Given the description of an element on the screen output the (x, y) to click on. 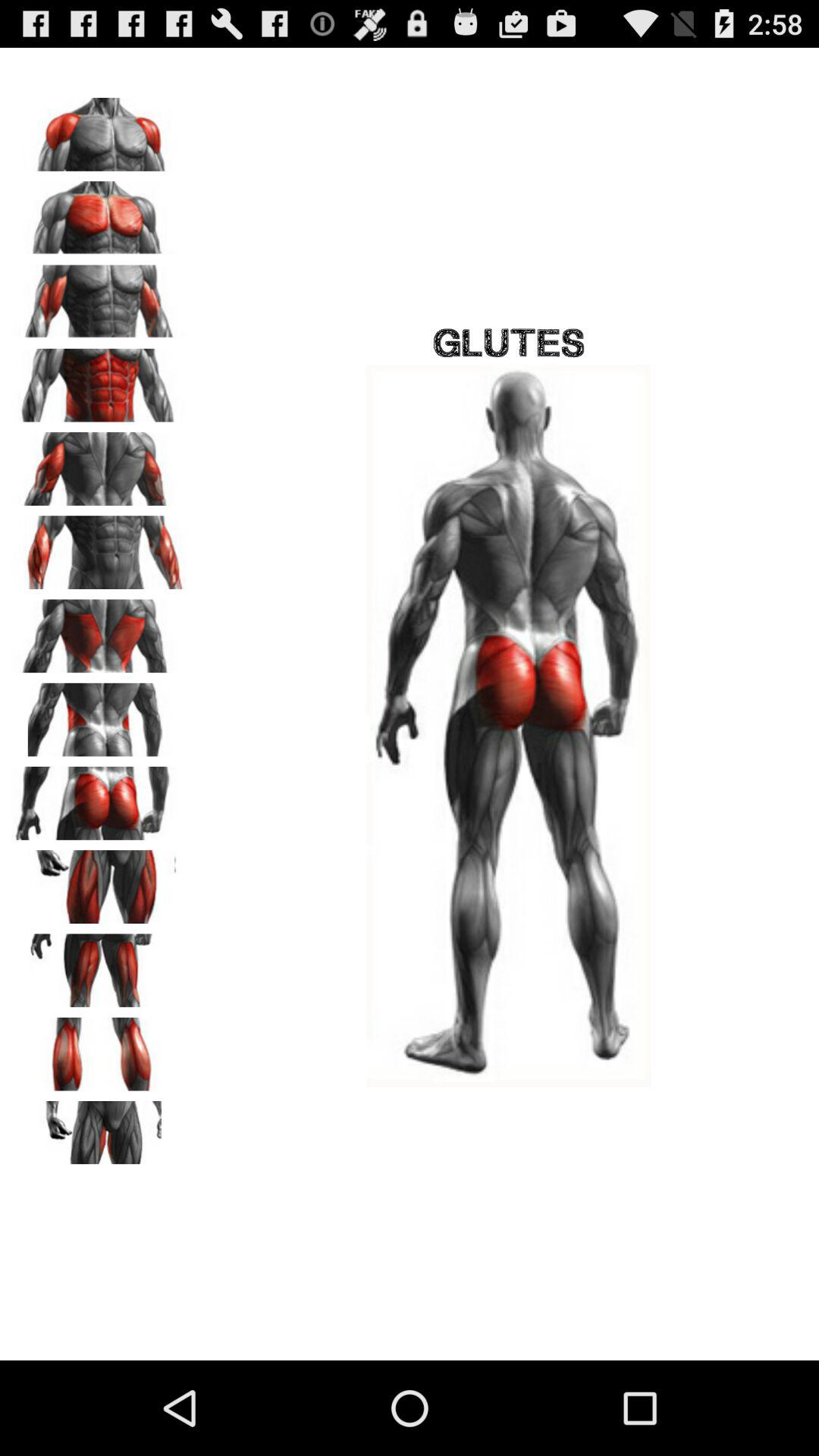
abs selection (99, 380)
